Given the description of an element on the screen output the (x, y) to click on. 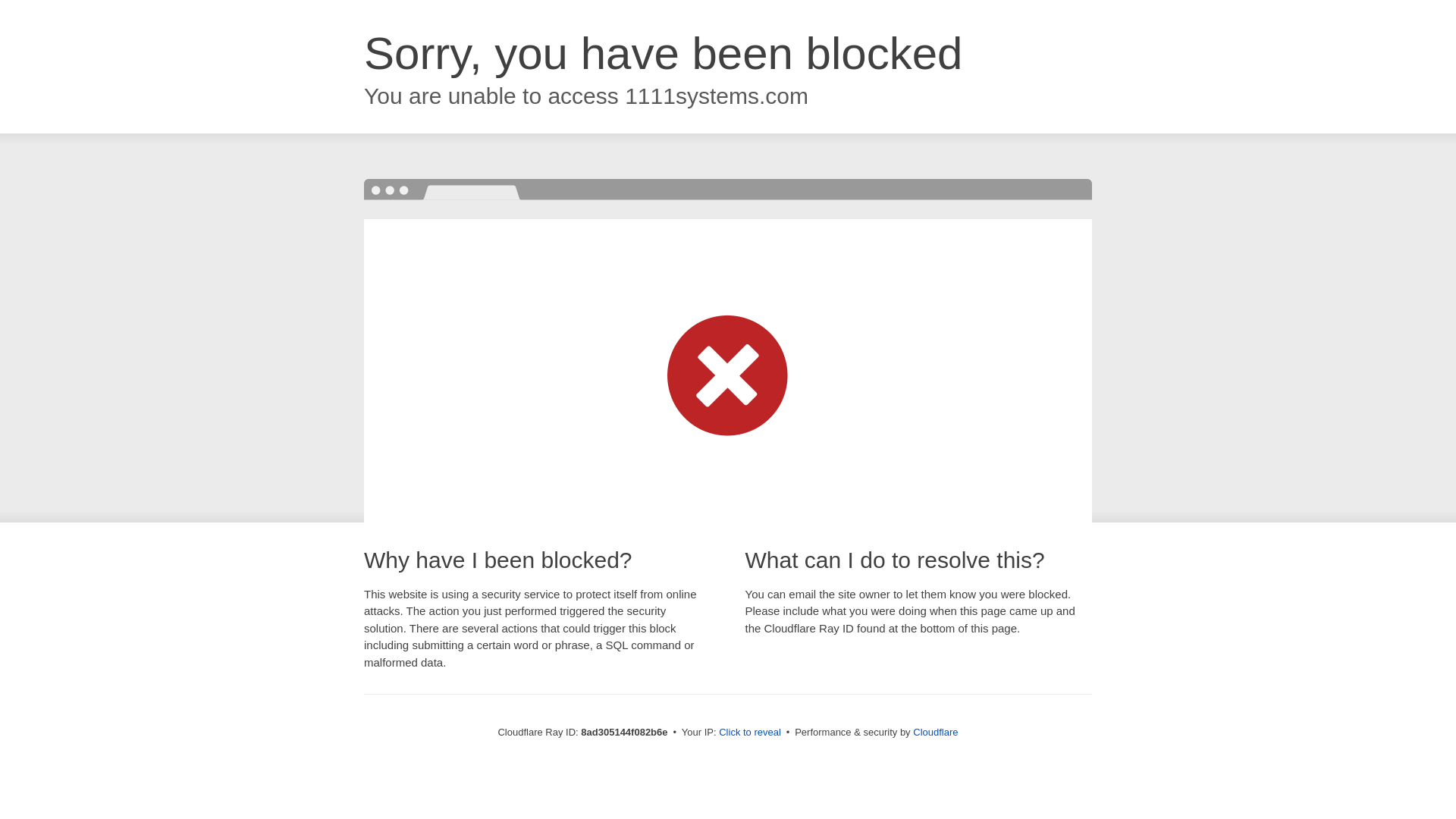
Cloudflare (935, 731)
Click to reveal (749, 732)
